Given the description of an element on the screen output the (x, y) to click on. 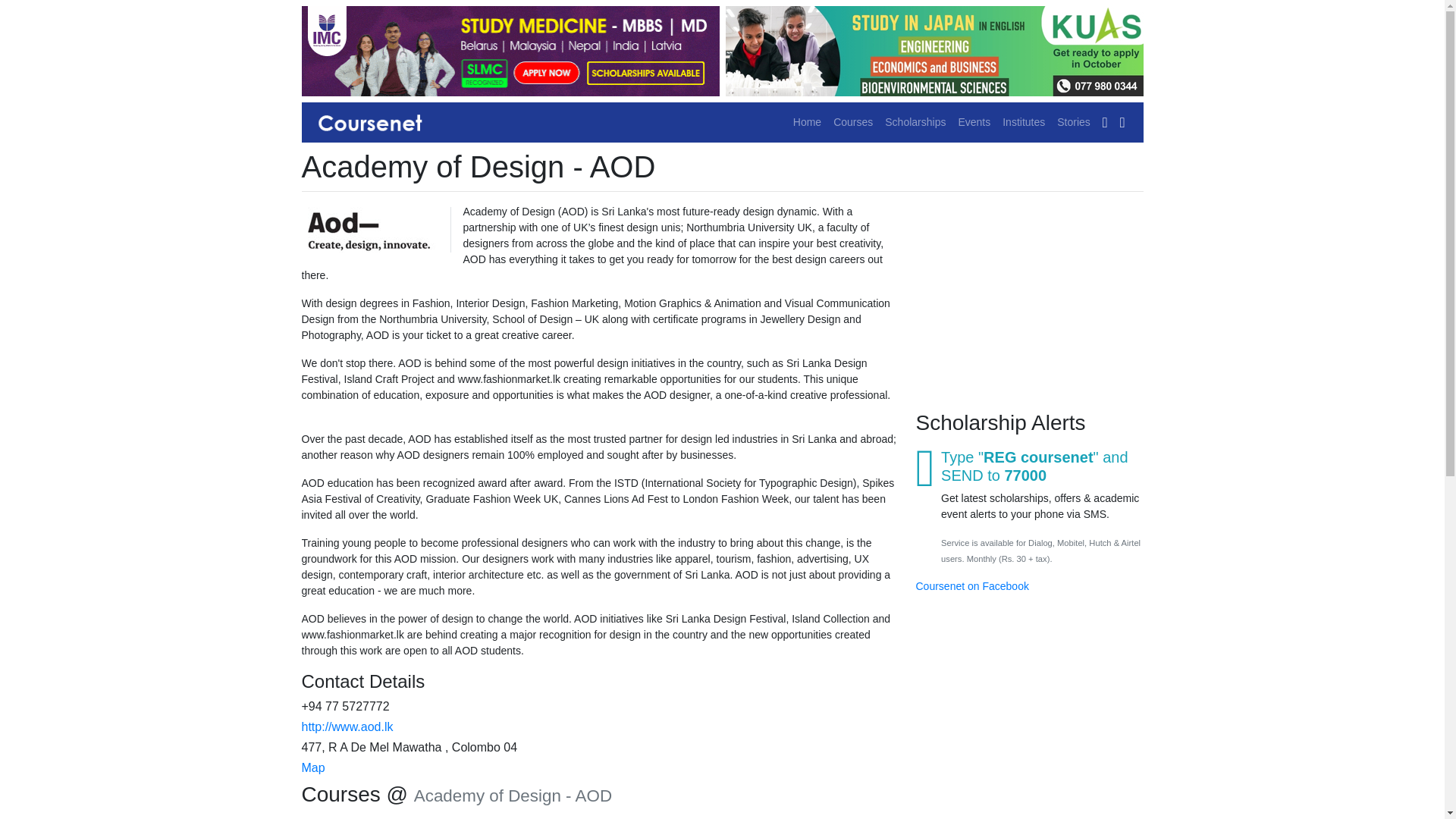
Coursenet on Facebook (972, 585)
Scholarships (915, 122)
Map (312, 767)
Advertisement (1028, 298)
Events (973, 122)
Institutes (1023, 122)
Courses (853, 122)
Home (807, 122)
Stories (1073, 122)
